Given the description of an element on the screen output the (x, y) to click on. 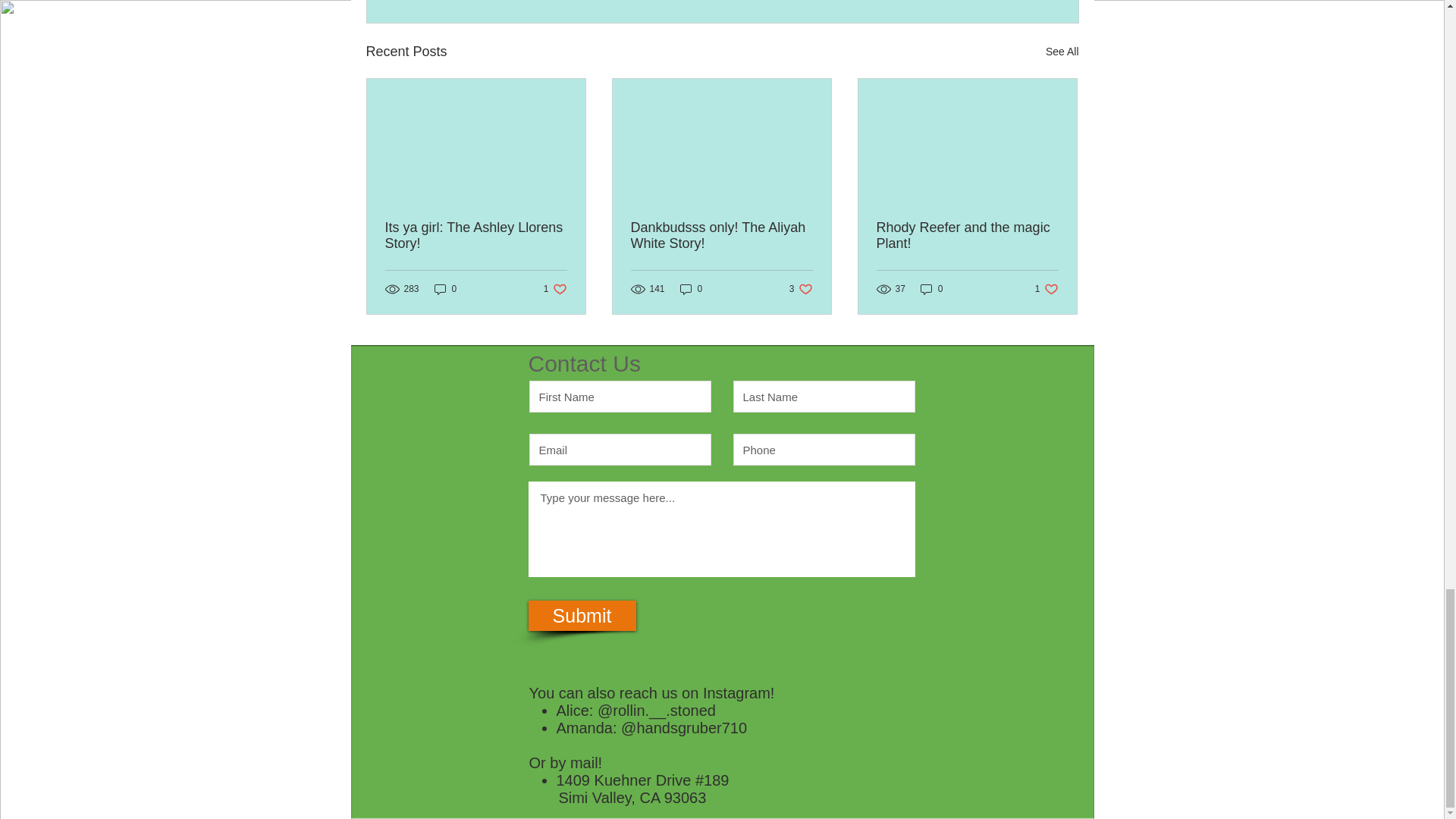
0 (800, 288)
Rhody Reefer and the magic Plant! (931, 288)
See All (967, 235)
Its ya girl: The Ashley Llorens Story! (1061, 51)
0 (1046, 288)
Submit (555, 288)
Dankbudsss only! The Aliyah White Story! (476, 235)
